Given the description of an element on the screen output the (x, y) to click on. 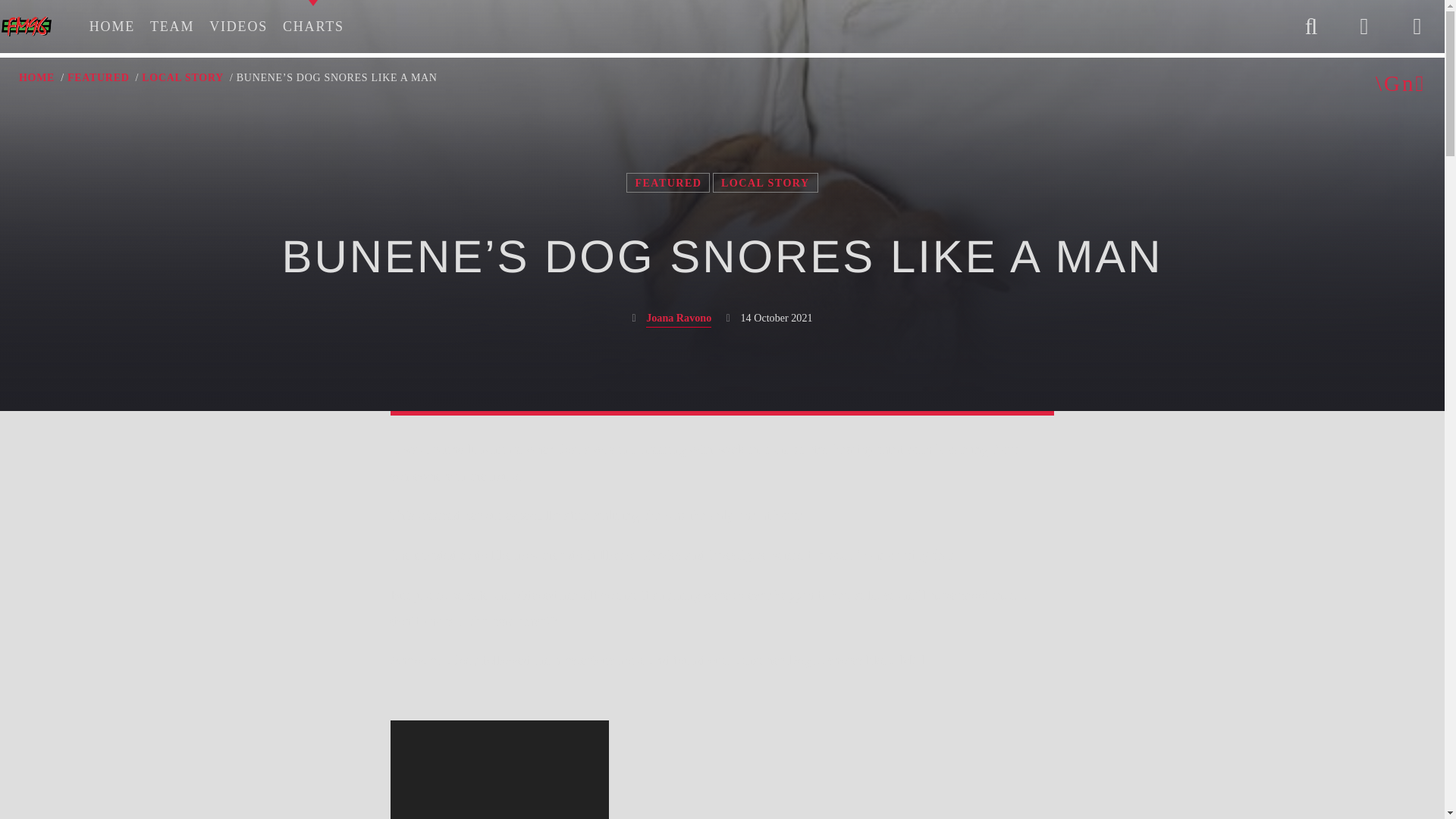
HOME (111, 26)
Posts by Joana Ravono (678, 319)
LOCAL STORY (765, 182)
FEATURED (668, 182)
LOCAL STORY (182, 77)
TEAM (172, 26)
FEATURED (97, 77)
VIDEOS (238, 26)
Joana Ravono (678, 319)
CHARTS (313, 26)
HOME (36, 77)
